Given the description of an element on the screen output the (x, y) to click on. 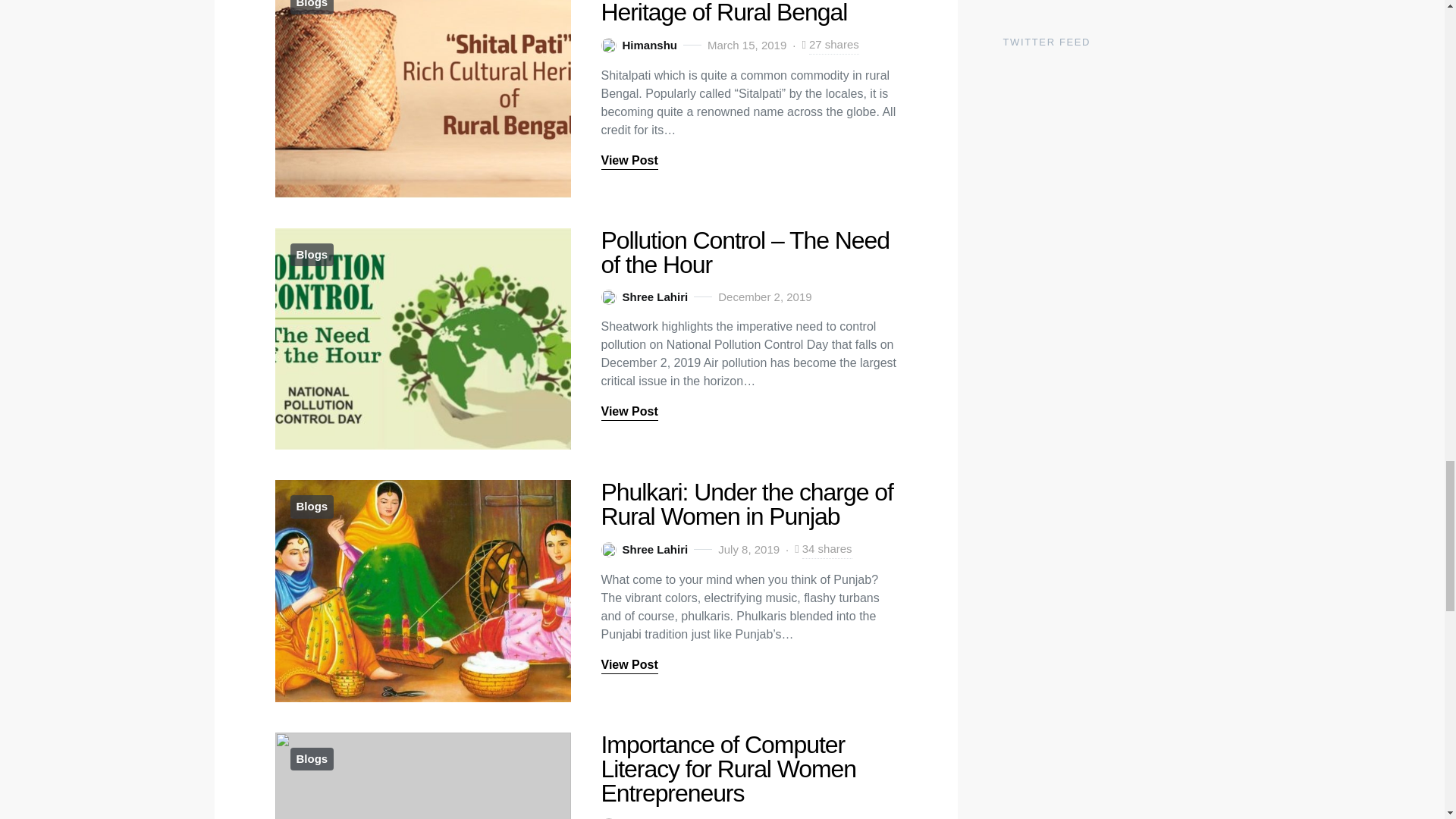
View all posts by Himanshu (638, 818)
View all posts by Shree Lahiri (643, 297)
View all posts by Shree Lahiri (643, 549)
View all posts by Himanshu (638, 45)
